Given the description of an element on the screen output the (x, y) to click on. 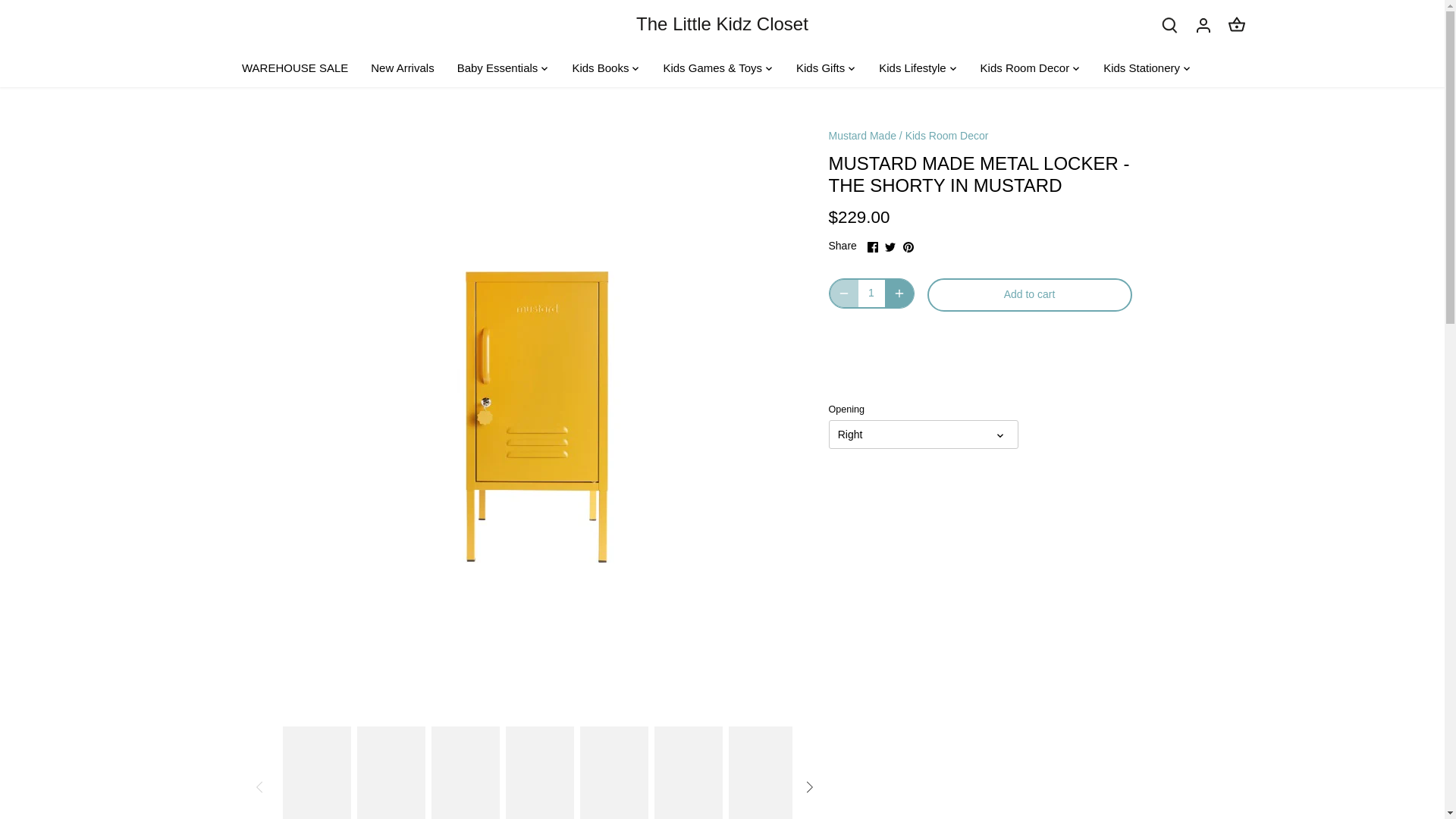
Kids Books (600, 68)
Baby Essentials (497, 68)
The Little Kidz Closet (722, 24)
1 (872, 293)
Pinterest (908, 246)
WAREHOUSE SALE (300, 68)
Twitter (890, 246)
Facebook (872, 246)
New Arrivals (402, 68)
